Given the description of an element on the screen output the (x, y) to click on. 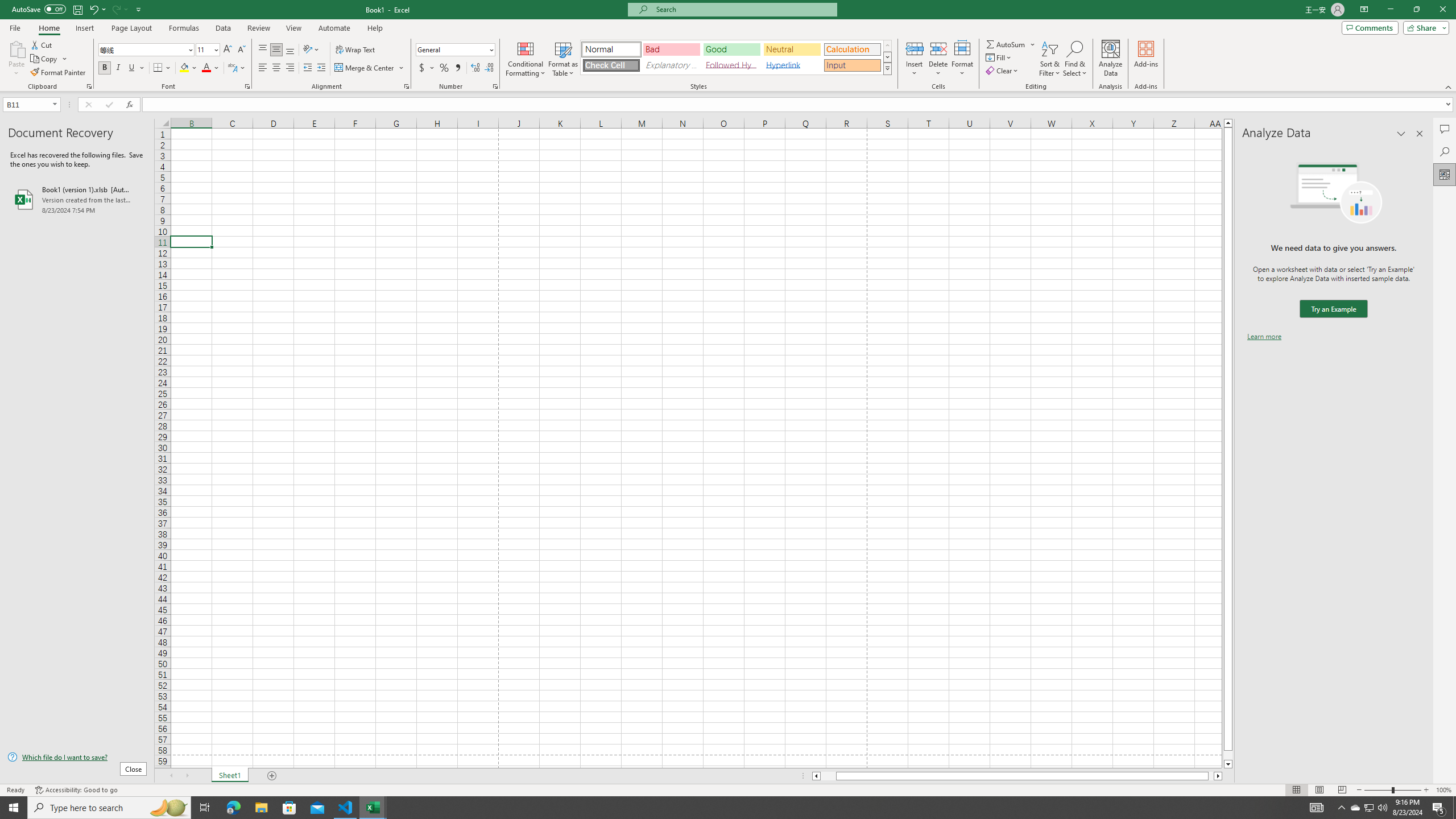
Fill Color (188, 67)
Copy (49, 58)
Show Phonetic Field (236, 67)
Align Left (262, 67)
We need data to give you answers. Try an Example (1333, 308)
Font (147, 49)
Font Color RGB(255, 0, 0) (206, 67)
Good (731, 49)
